Given the description of an element on the screen output the (x, y) to click on. 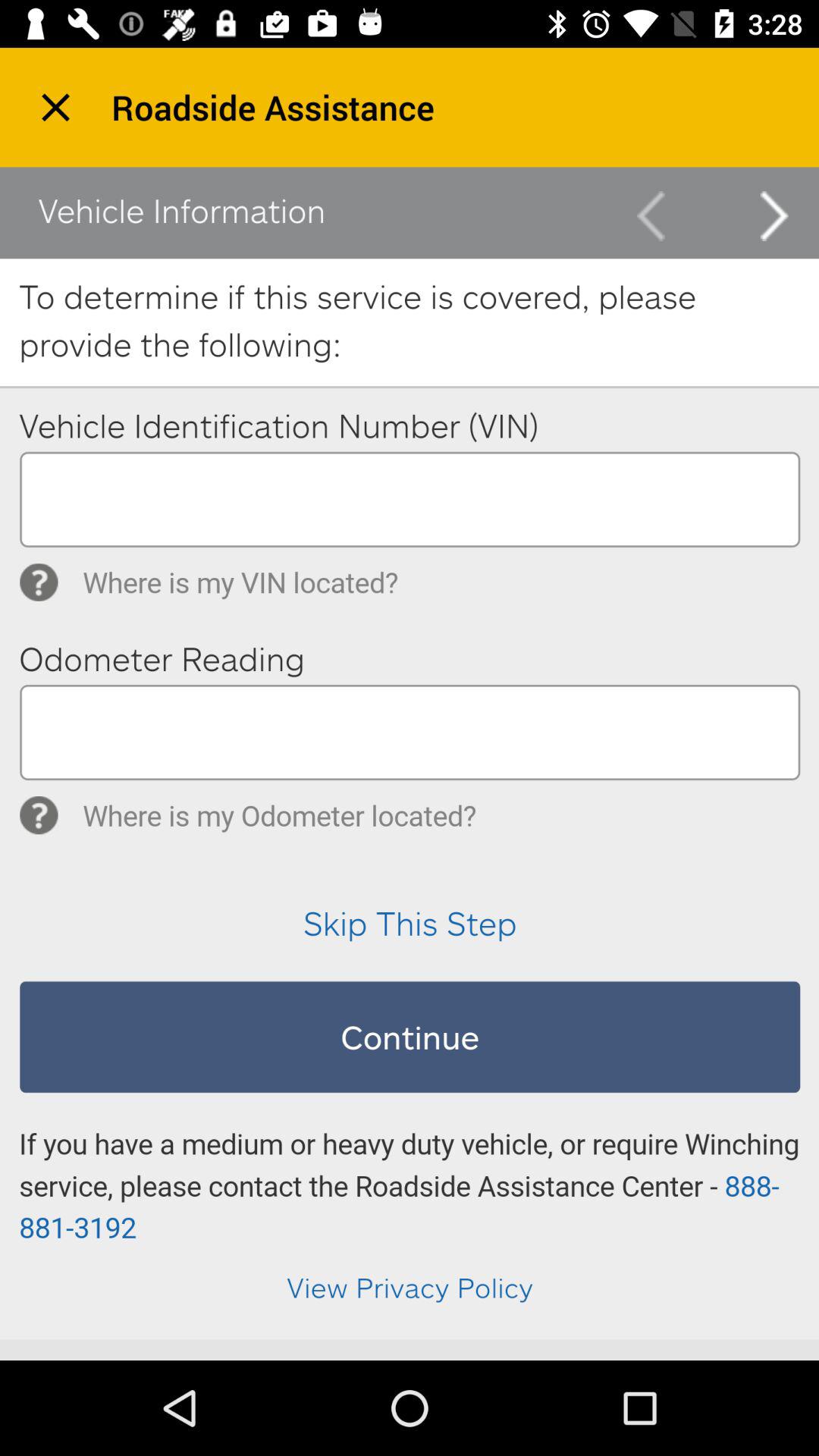
question of roadside assistance (409, 753)
